Given the description of an element on the screen output the (x, y) to click on. 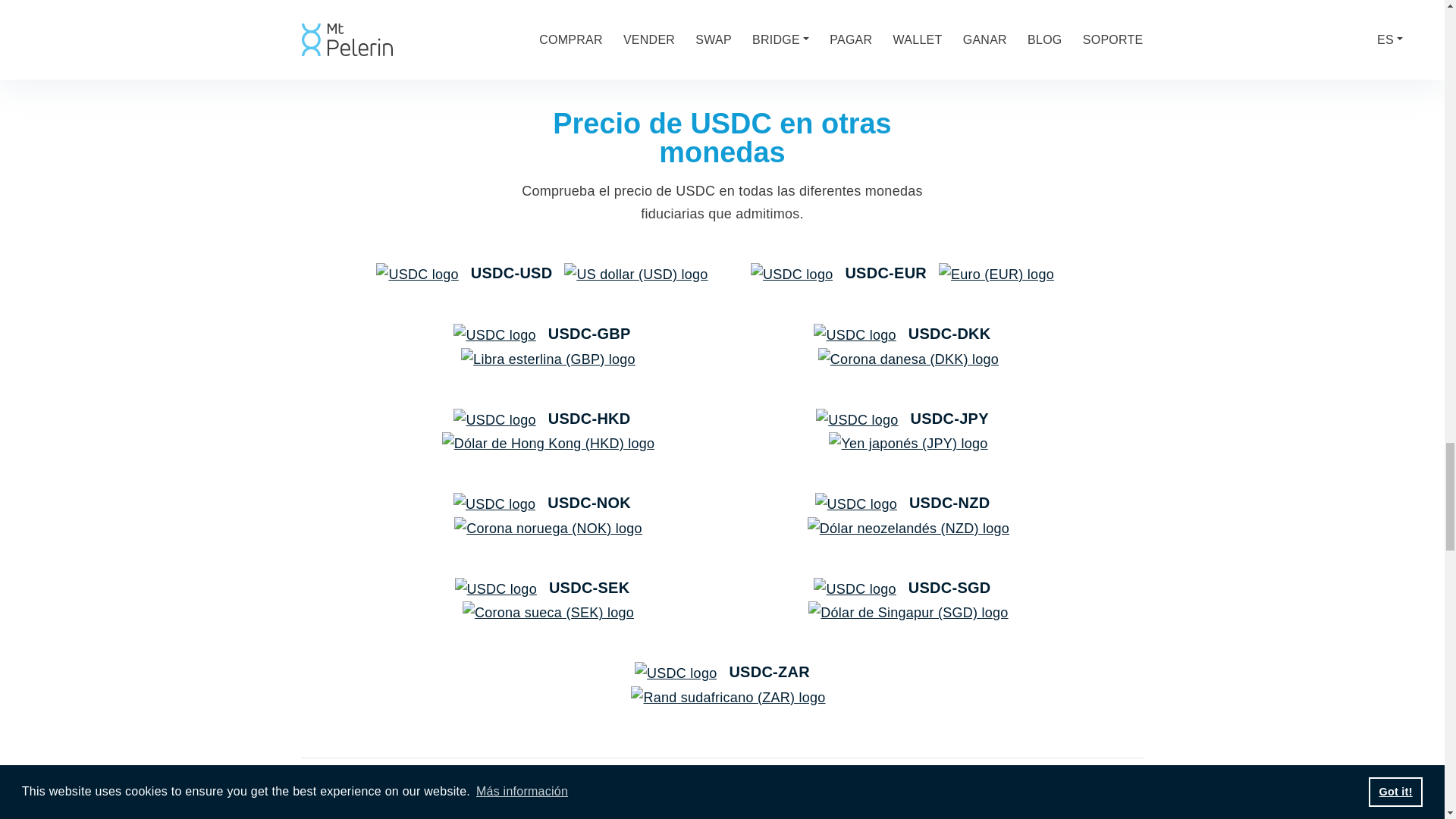
USDC (495, 589)
USDC (416, 273)
USDC (493, 334)
USDC (855, 504)
USDC (854, 589)
USDC (854, 334)
USDC (856, 419)
USDC (791, 273)
USDC (493, 419)
USDC (493, 504)
